Given the description of an element on the screen output the (x, y) to click on. 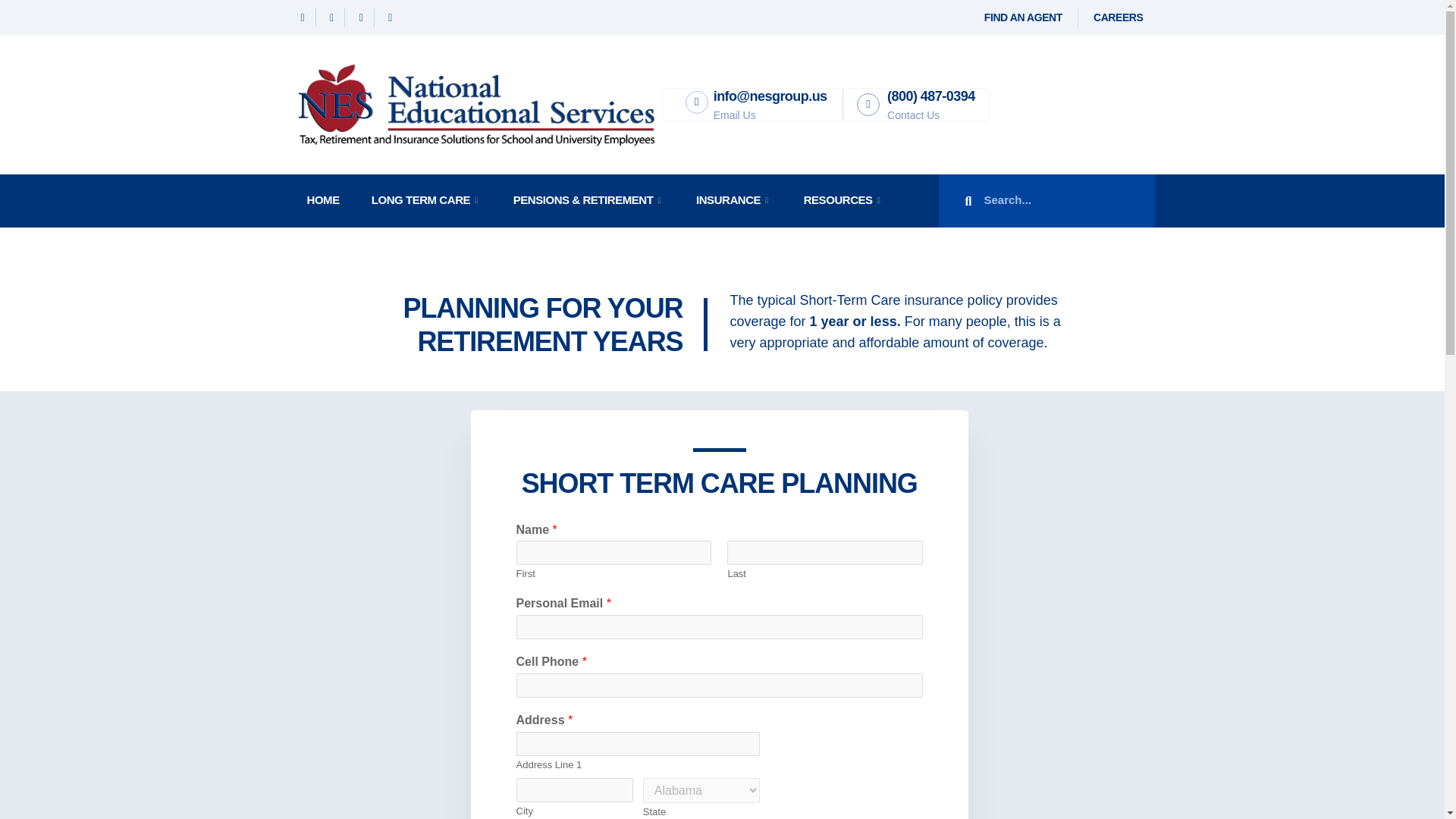
HOME (321, 200)
CAREERS (1117, 17)
LONG TERM CARE (425, 200)
RESOURCES (843, 200)
FIND AN AGENT (1023, 17)
INSURANCE (733, 200)
